Given the description of an element on the screen output the (x, y) to click on. 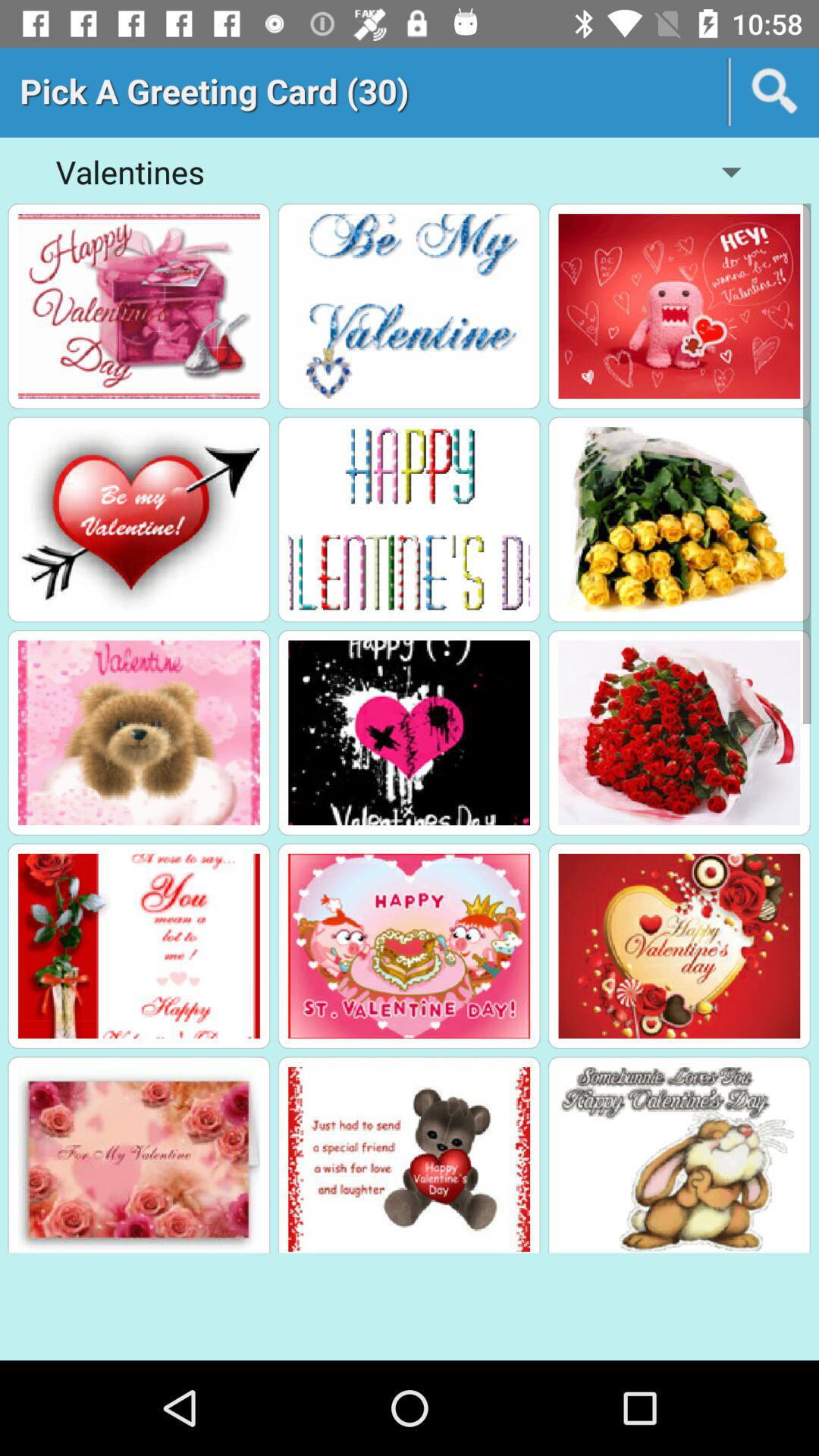
click the image (679, 519)
